Given the description of an element on the screen output the (x, y) to click on. 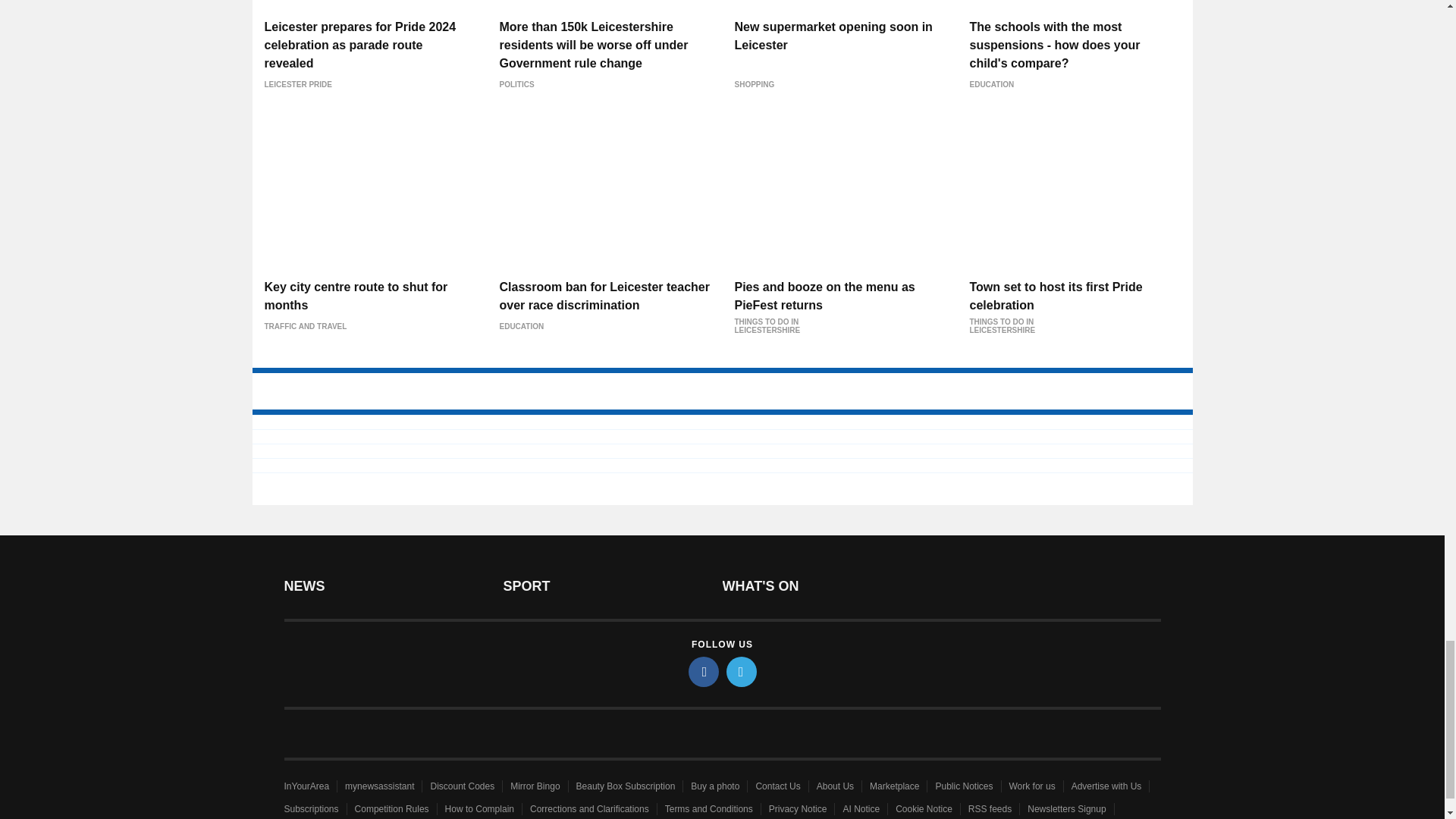
twitter (741, 671)
facebook (703, 671)
